Given the description of an element on the screen output the (x, y) to click on. 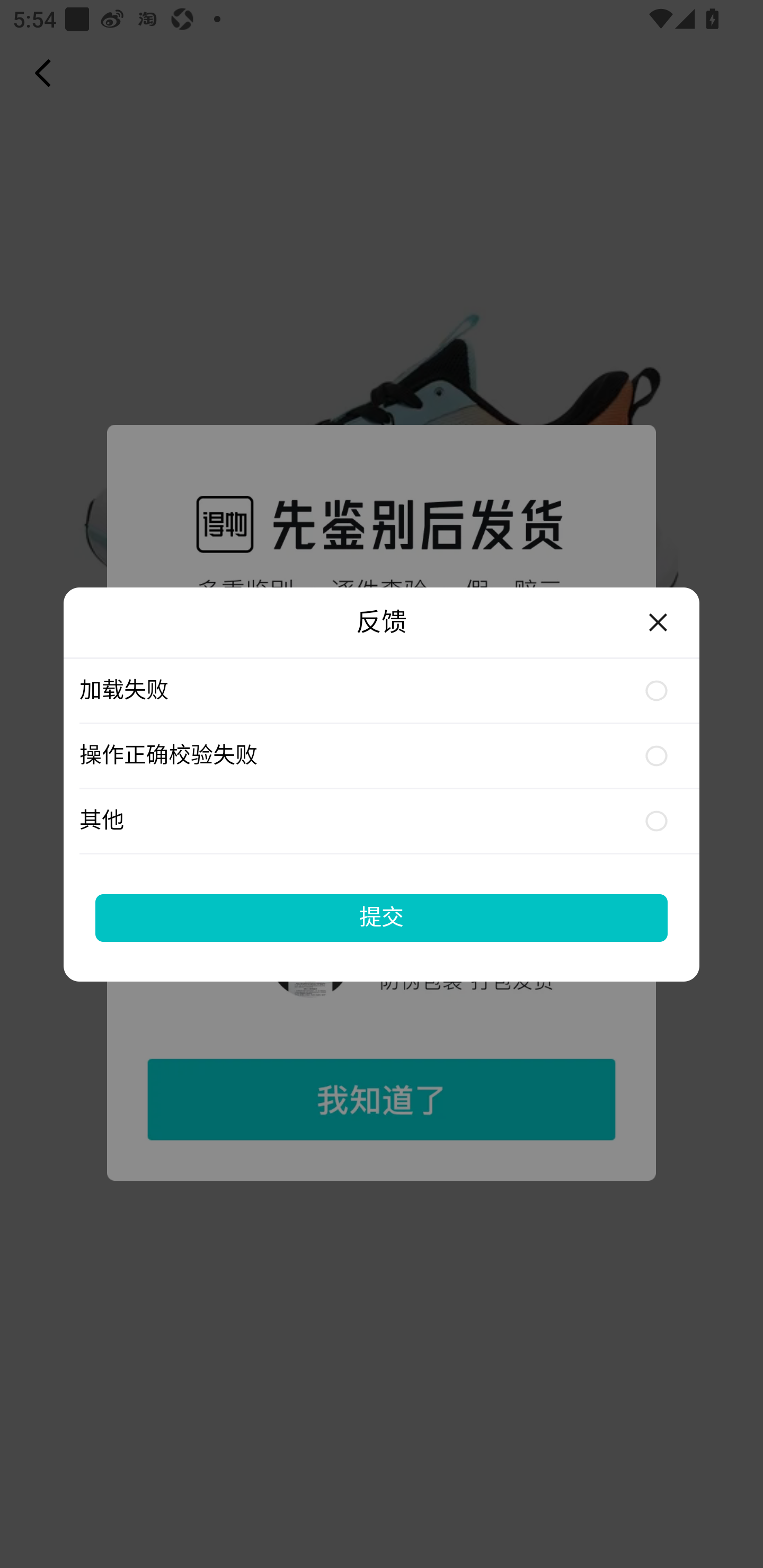
提交 (381, 917)
